Given the description of an element on the screen output the (x, y) to click on. 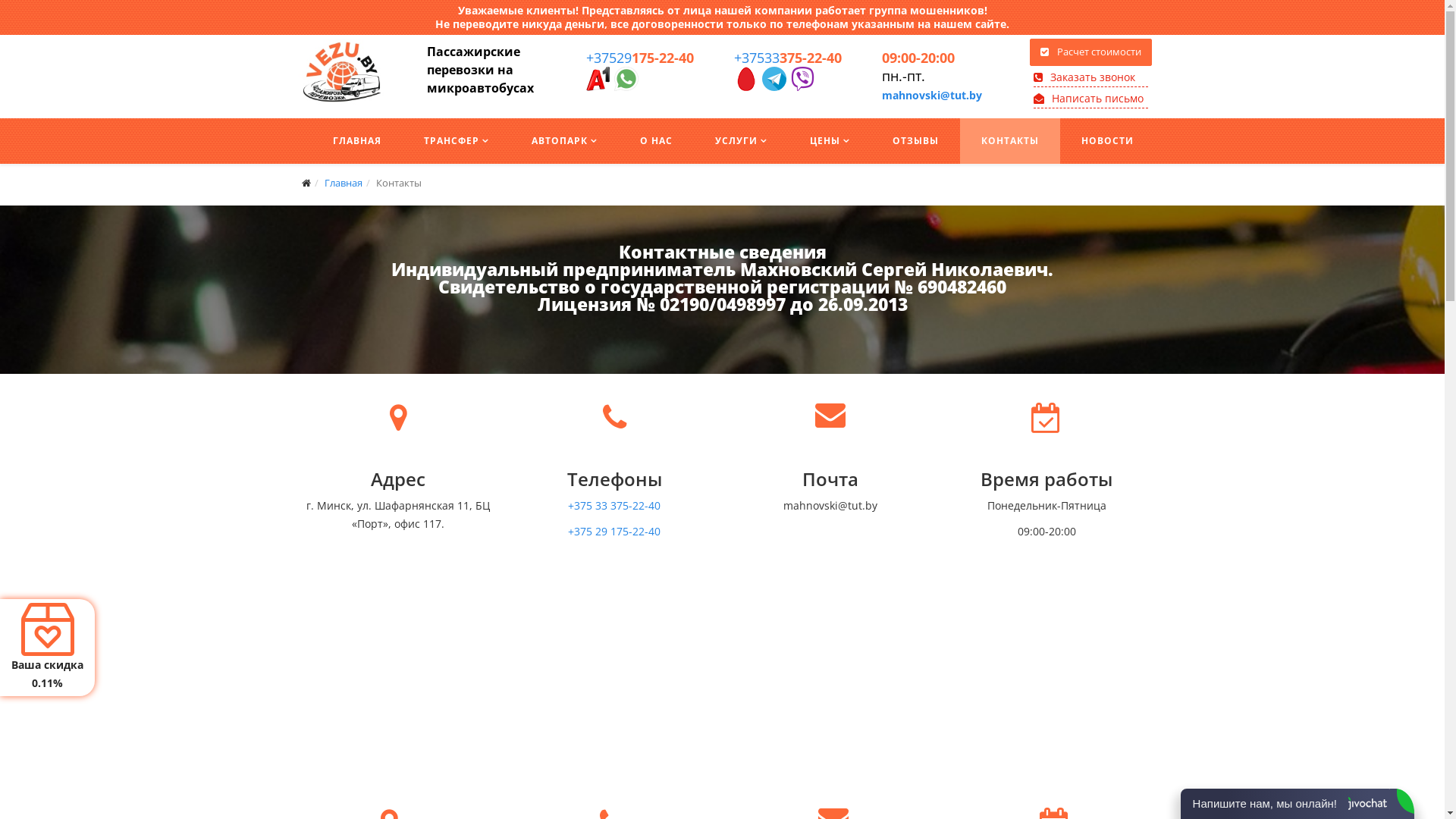
mahnovski@tut.by Element type: text (931, 94)
+375 29 175-22-40 Element type: text (613, 531)
+375 33 375-22-40 Element type: text (613, 505)
+37533
375-22-40 Element type: text (787, 57)
+37529
175-22-40 Element type: text (639, 57)
